Given the description of an element on the screen output the (x, y) to click on. 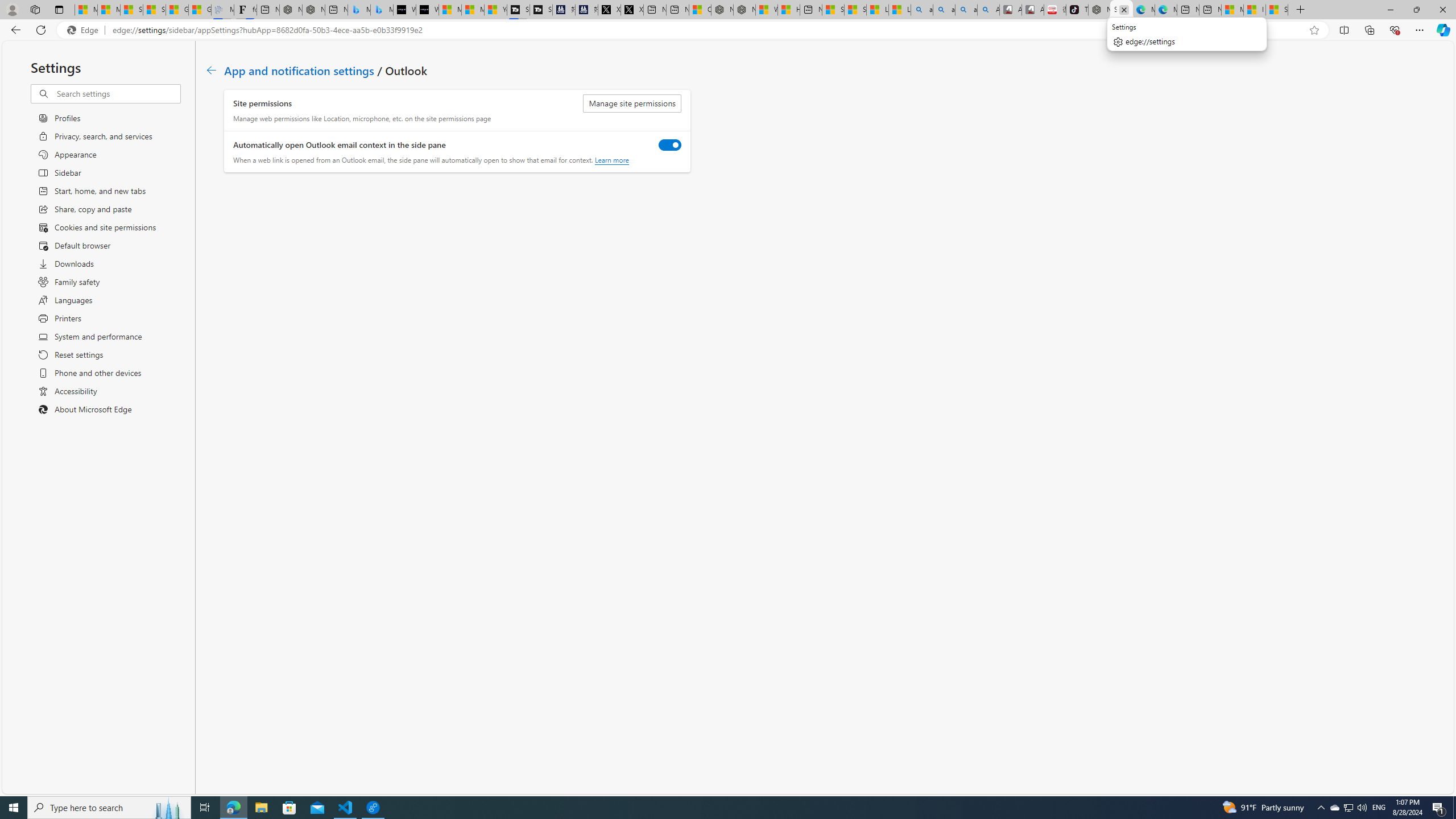
Microsoft Bing Travel - Stays in Bangkok, Bangkok, Thailand (359, 9)
TikTok (1077, 9)
Learn more (611, 159)
Amazon Echo Robot - Search Images (988, 9)
Class: c01188 (210, 70)
